Given the description of an element on the screen output the (x, y) to click on. 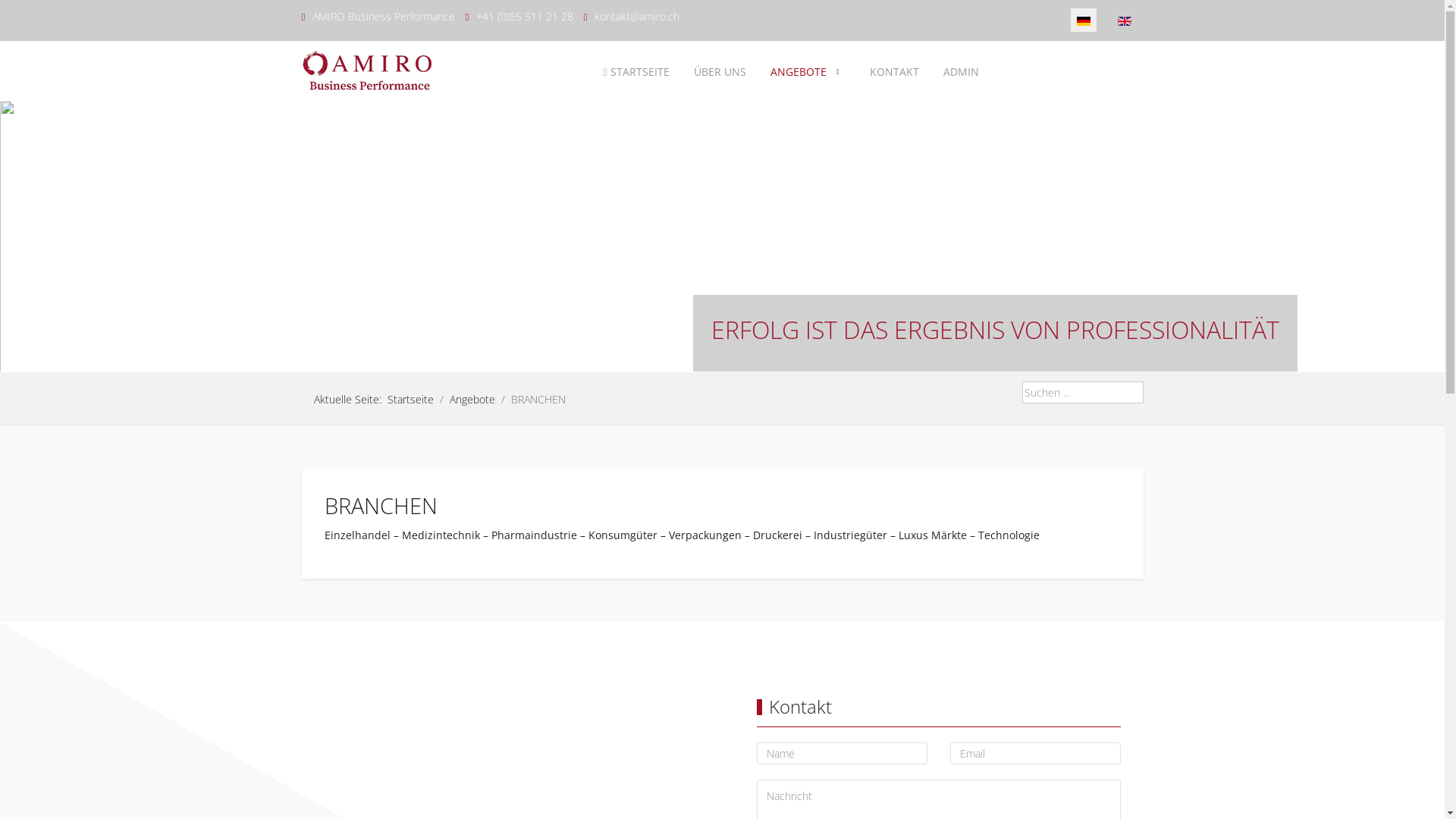
STARTSEITE Element type: text (635, 71)
kontakt@amiro.ch Element type: text (636, 16)
Angebote Element type: text (471, 398)
KONTAKT Element type: text (894, 71)
Startseite Element type: text (409, 398)
Detusch DE Element type: hover (1083, 20)
+41 (0)55 511 21 28 Element type: text (524, 16)
ANGEBOTE Element type: text (807, 71)
ADMIN Element type: text (961, 71)
English (United Kingdom) Element type: hover (1124, 20)
